Given the description of an element on the screen output the (x, y) to click on. 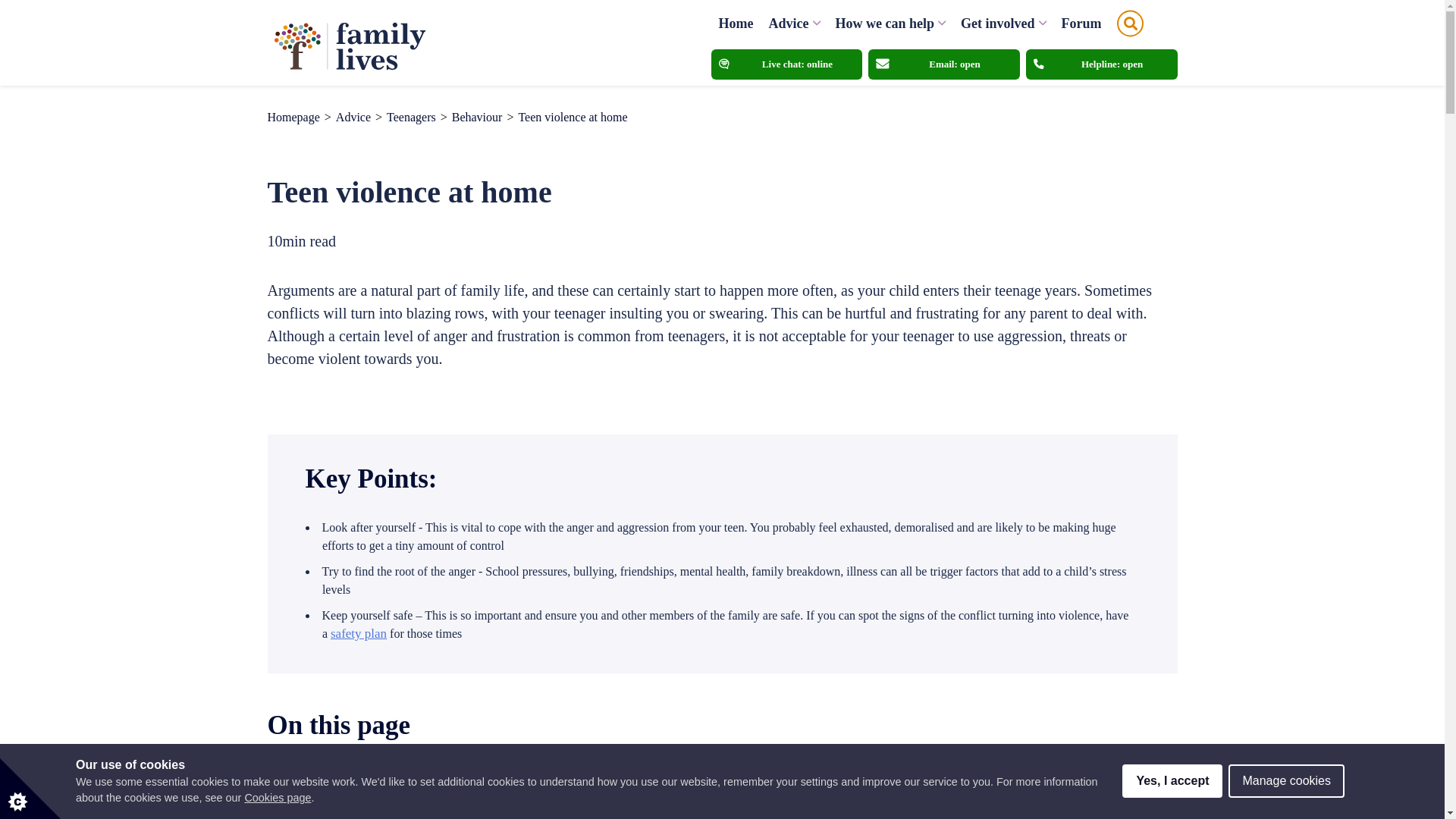
Homepage (292, 116)
Behaviour (476, 116)
Teen violence at home (572, 116)
Home (736, 22)
Search (1130, 23)
Advice (353, 116)
Cancel search (1152, 23)
Back to the top (1411, 771)
Family Lives (347, 42)
Advice (788, 22)
